Given the description of an element on the screen output the (x, y) to click on. 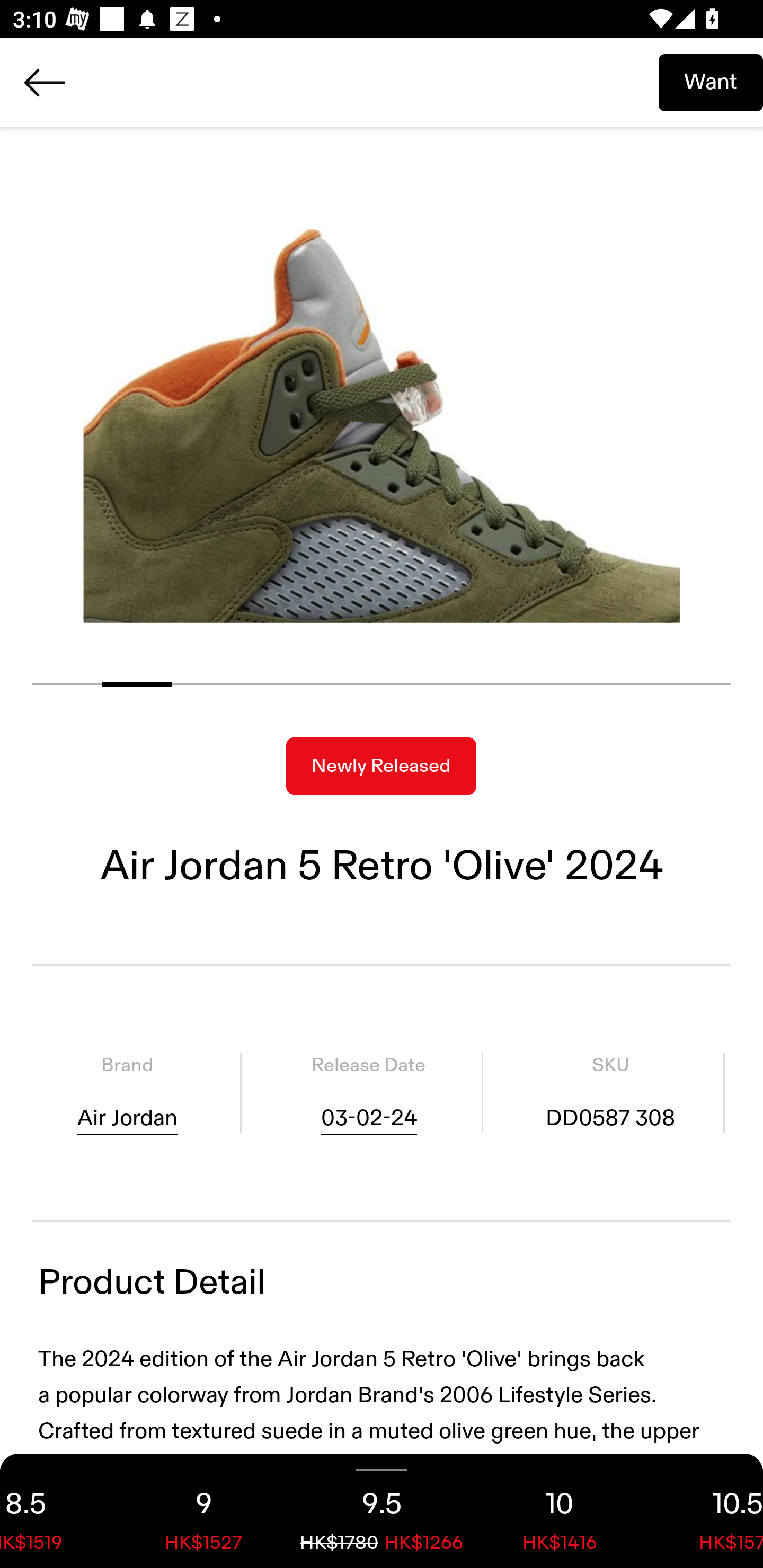
Want (710, 82)
Newly Released (381, 765)
Brand Air Jordan (126, 1092)
Release Date 03-02-24 (368, 1092)
SKU DD0587 308 (609, 1092)
8.5 HK$1519 (57, 1510)
9 HK$1527 (203, 1510)
9.5 HK$1780 HK$1266 (381, 1510)
10 HK$1416 (559, 1510)
10.5 HK$1574 (705, 1510)
